Given the description of an element on the screen output the (x, y) to click on. 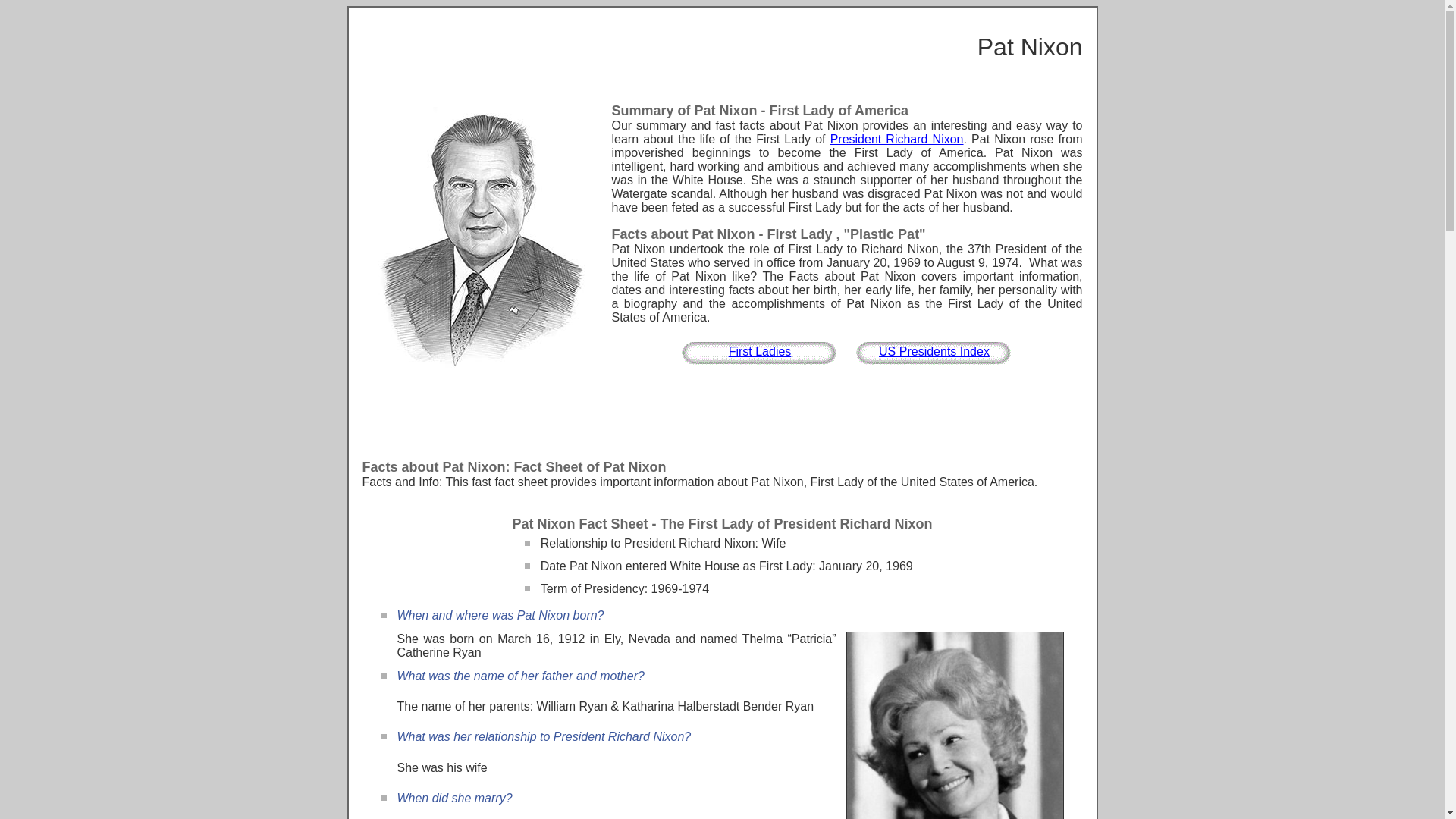
First Ladies (760, 350)
Advertisement (721, 418)
US Presidents Index (934, 350)
President Richard Nixon (896, 138)
